Given the description of an element on the screen output the (x, y) to click on. 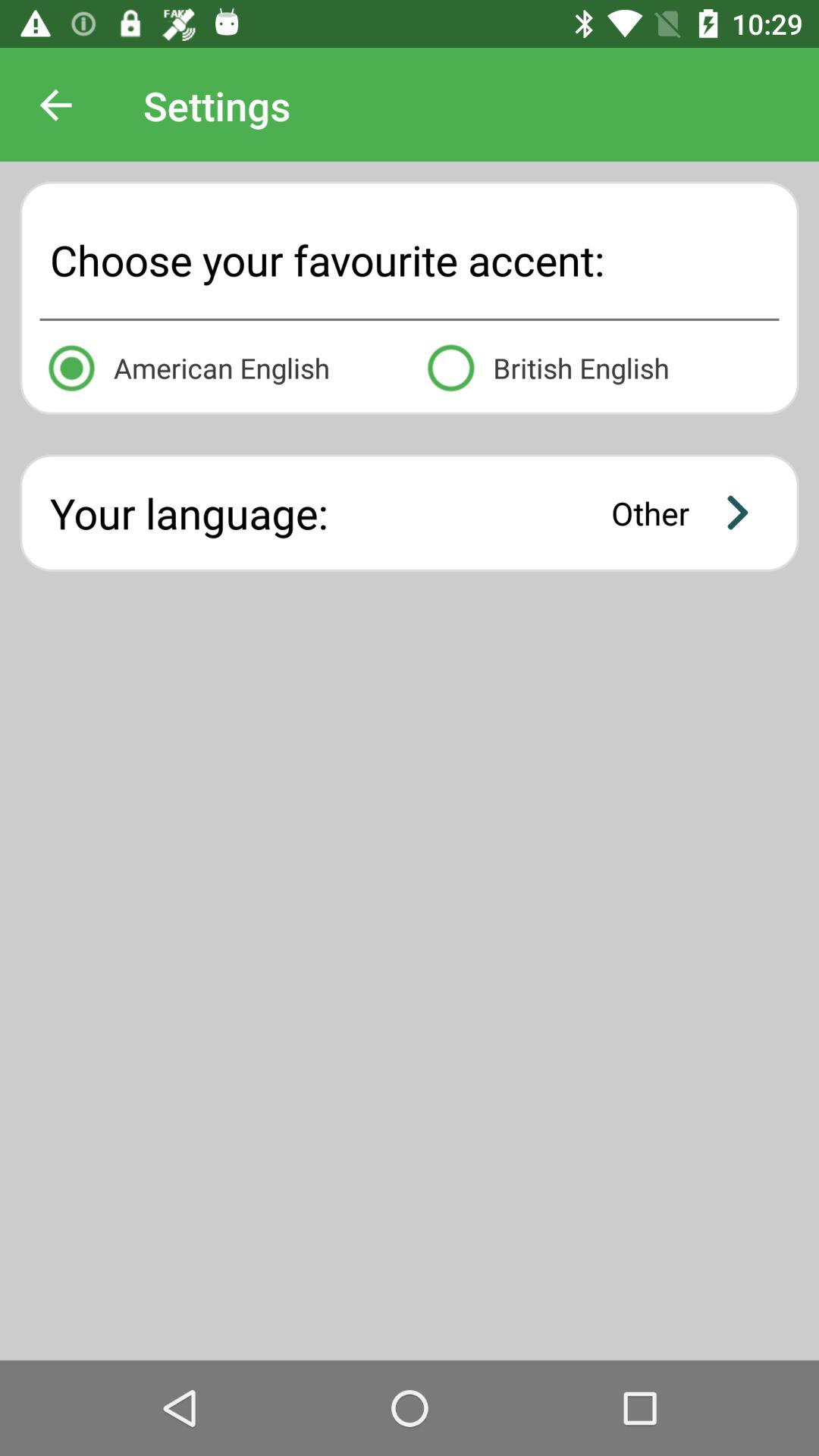
tap the icon to the left of british english (219, 365)
